Given the description of an element on the screen output the (x, y) to click on. 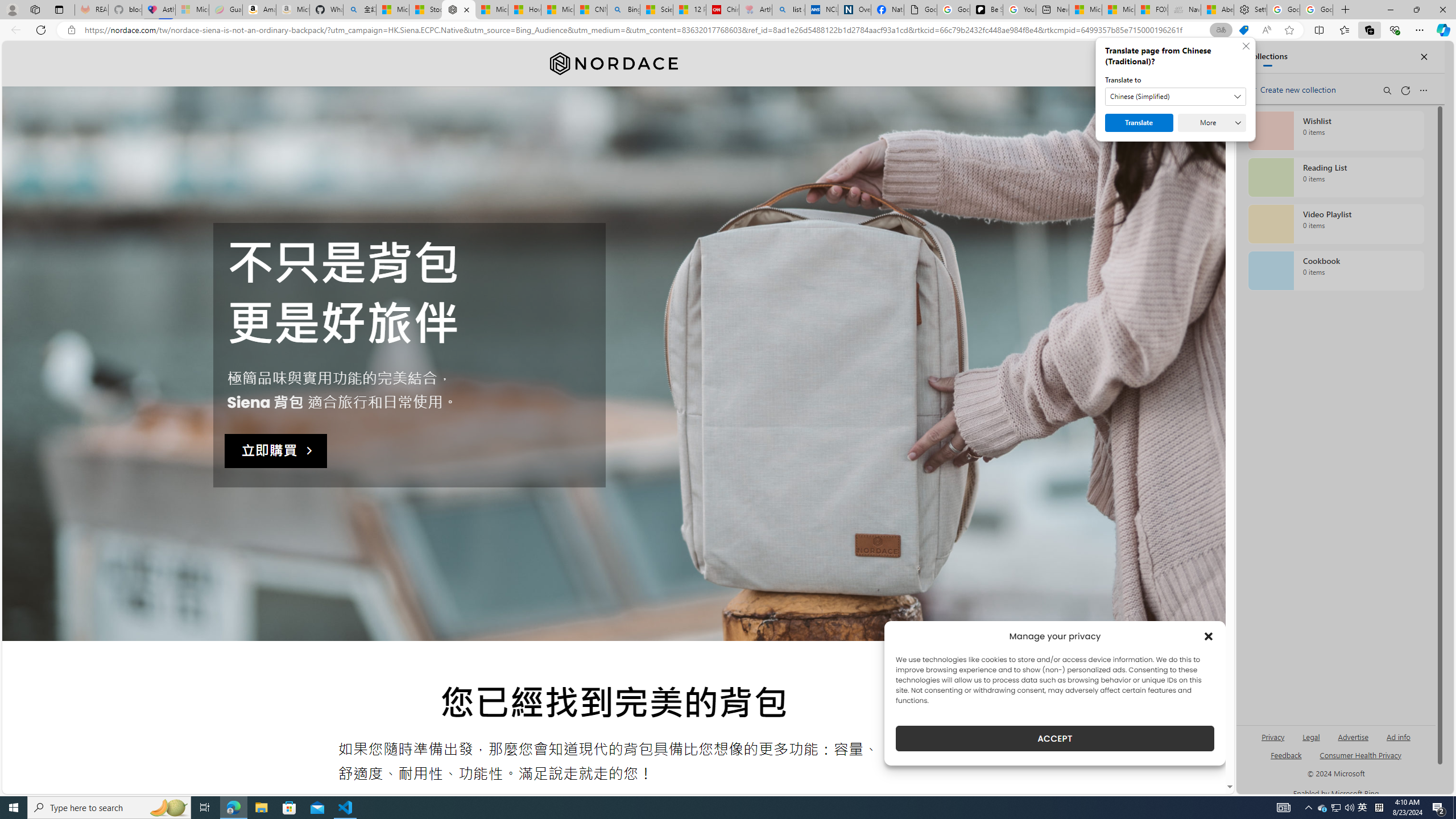
FOX News - MSN (1150, 9)
